Given the description of an element on the screen output the (x, y) to click on. 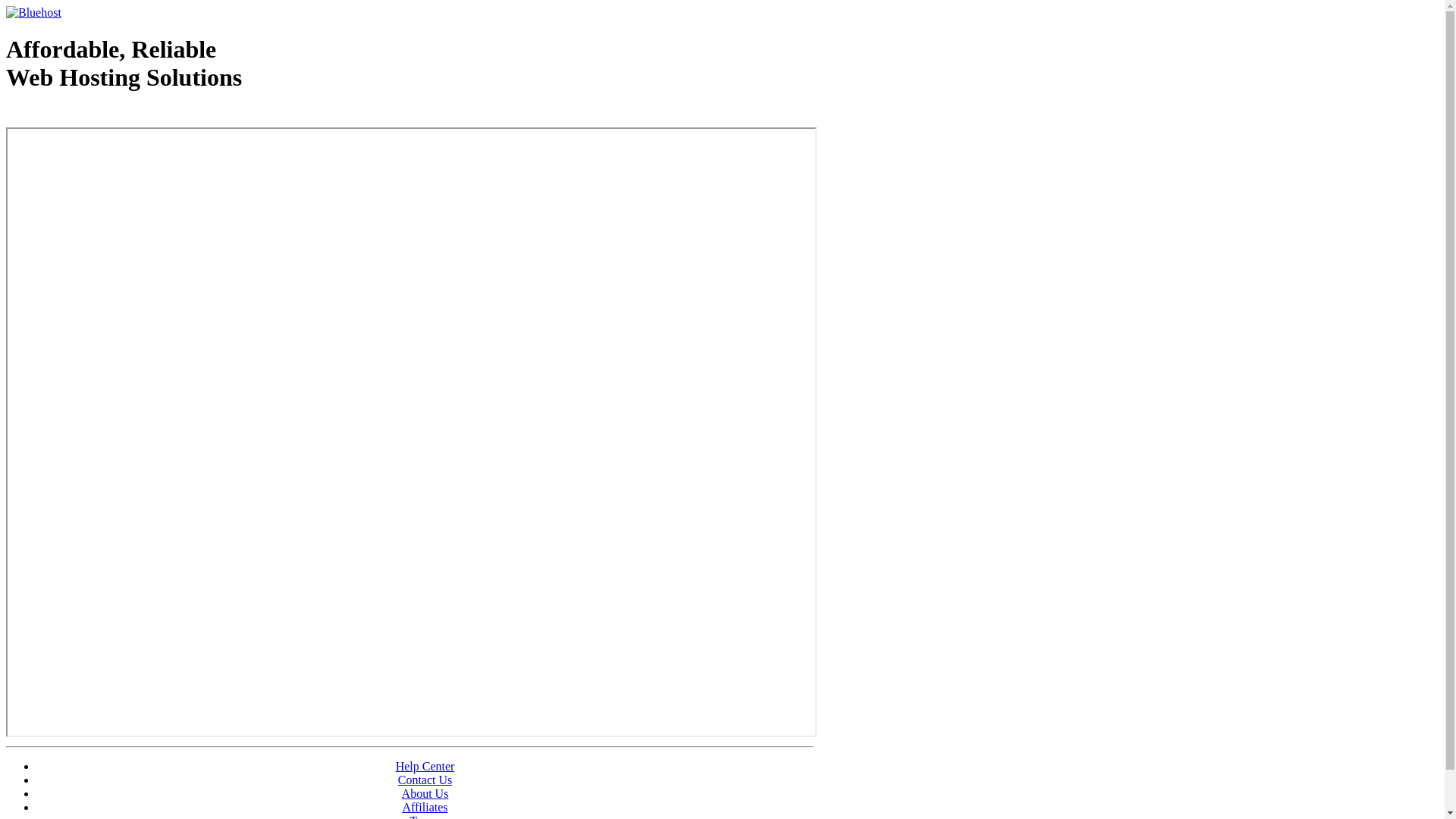
Contact Us Element type: text (425, 779)
Web Hosting - courtesy of www.bluehost.com Element type: text (94, 115)
Affiliates Element type: text (424, 806)
About Us Element type: text (424, 793)
Help Center Element type: text (425, 765)
